Given the description of an element on the screen output the (x, y) to click on. 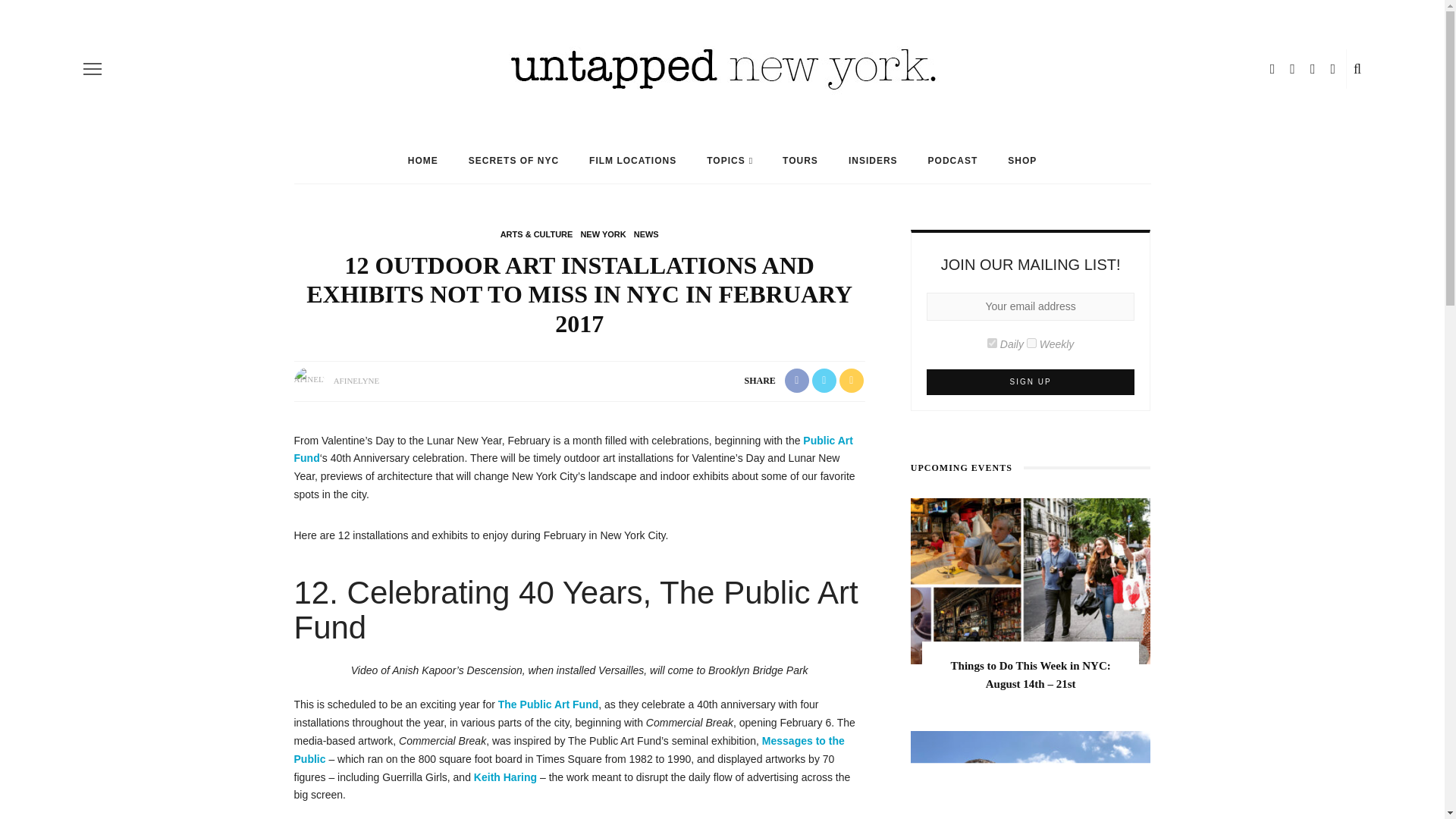
Post by AFineLyne (356, 379)
7cff6a70fd (1031, 343)
e99a09560c (992, 343)
Sign up (1030, 381)
off canvas button (91, 68)
